Given the description of an element on the screen output the (x, y) to click on. 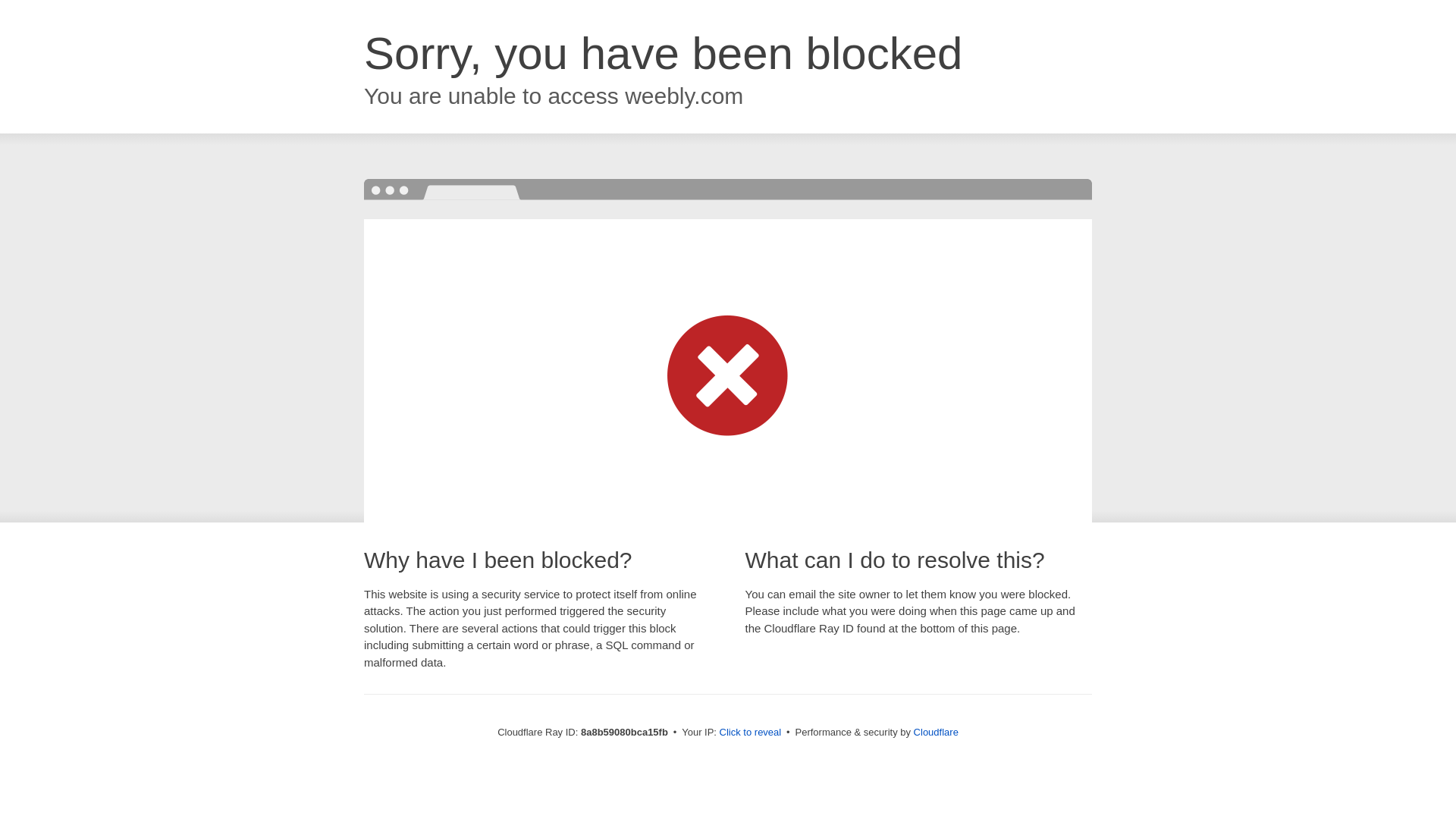
Click to reveal (750, 732)
Cloudflare (936, 731)
